Given the description of an element on the screen output the (x, y) to click on. 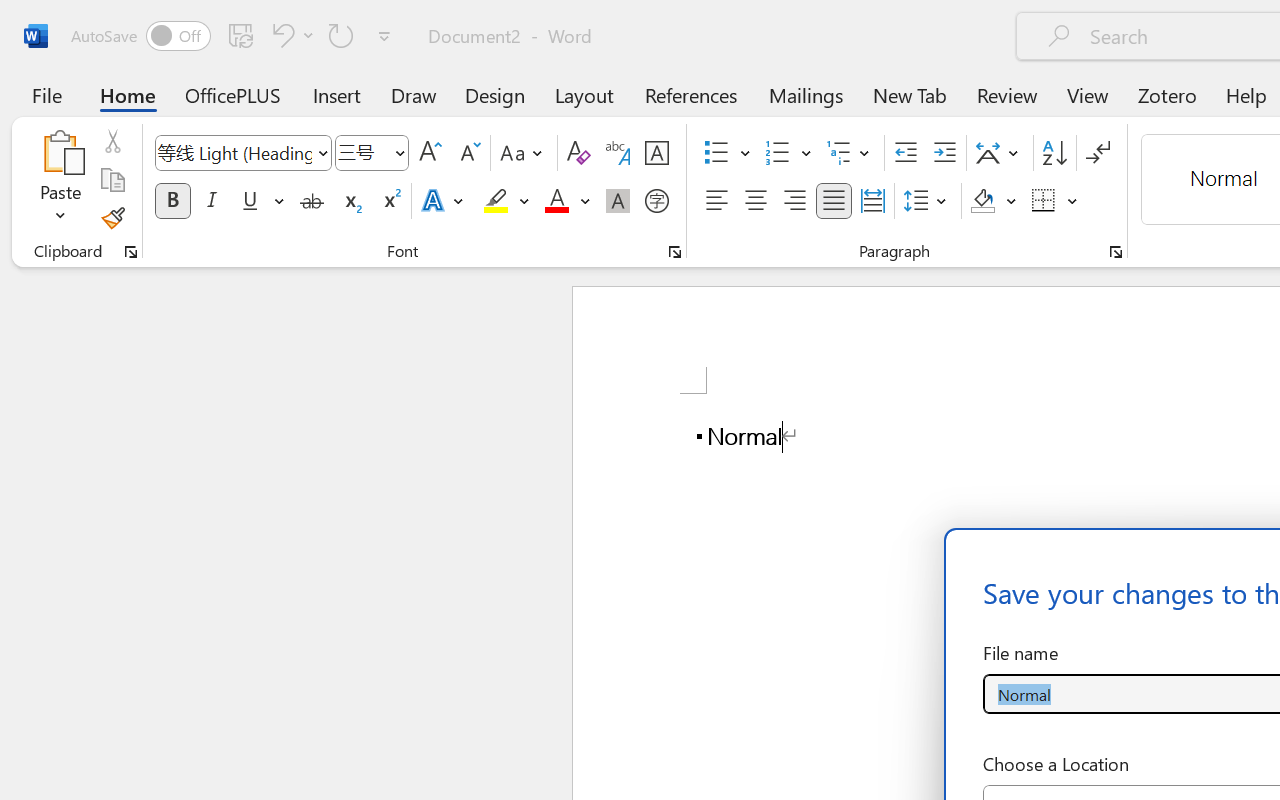
More Options (1073, 201)
Grow Font (430, 153)
